Given the description of an element on the screen output the (x, y) to click on. 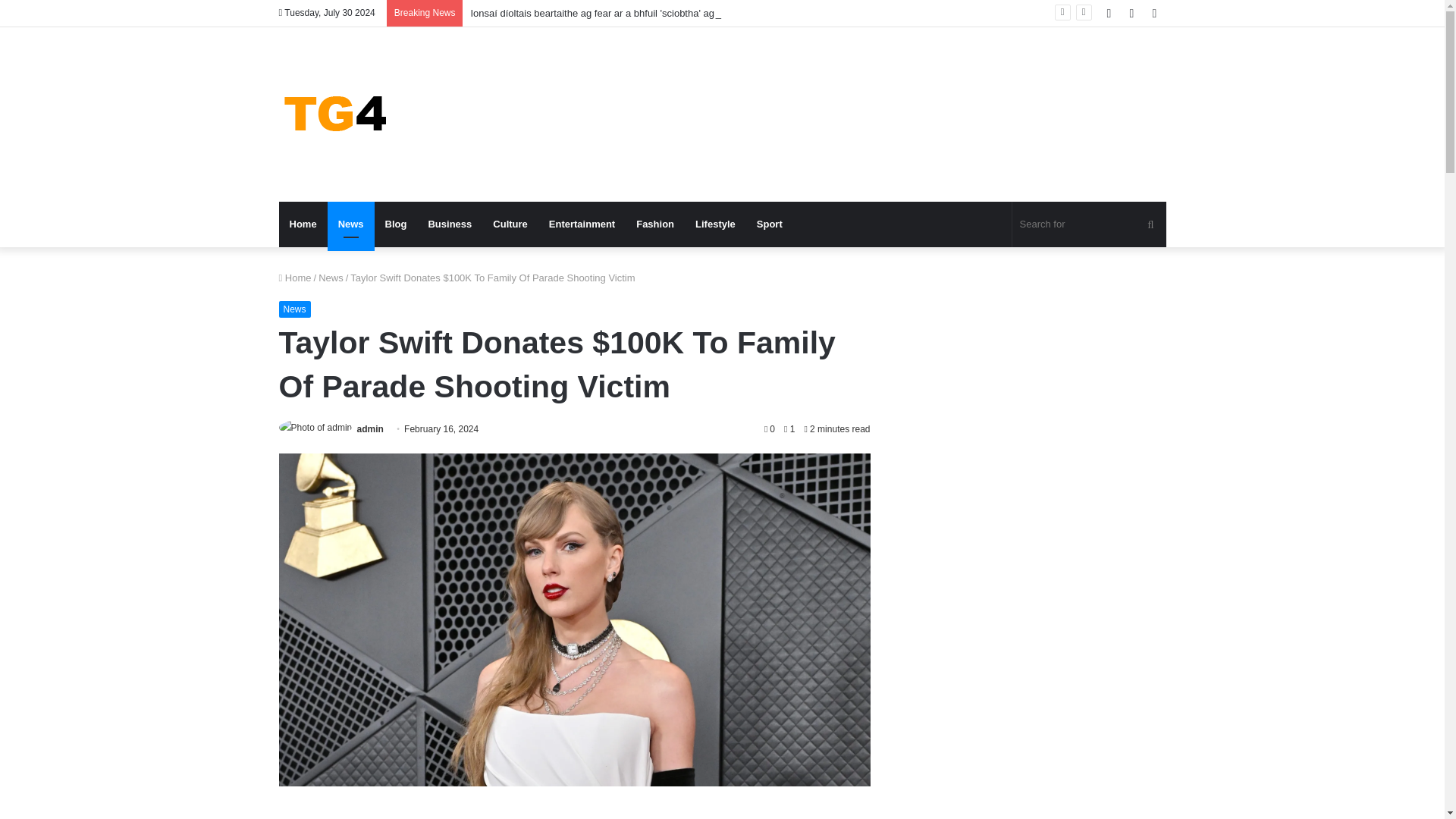
admin (370, 429)
News (295, 309)
Entertainment (582, 224)
News (350, 224)
Home (295, 277)
admin (370, 429)
Home (303, 224)
Sport (769, 224)
Search for (1088, 224)
Culture (509, 224)
Fashion (655, 224)
TG4 (336, 114)
Business (448, 224)
Lifestyle (714, 224)
Blog (395, 224)
